Given the description of an element on the screen output the (x, y) to click on. 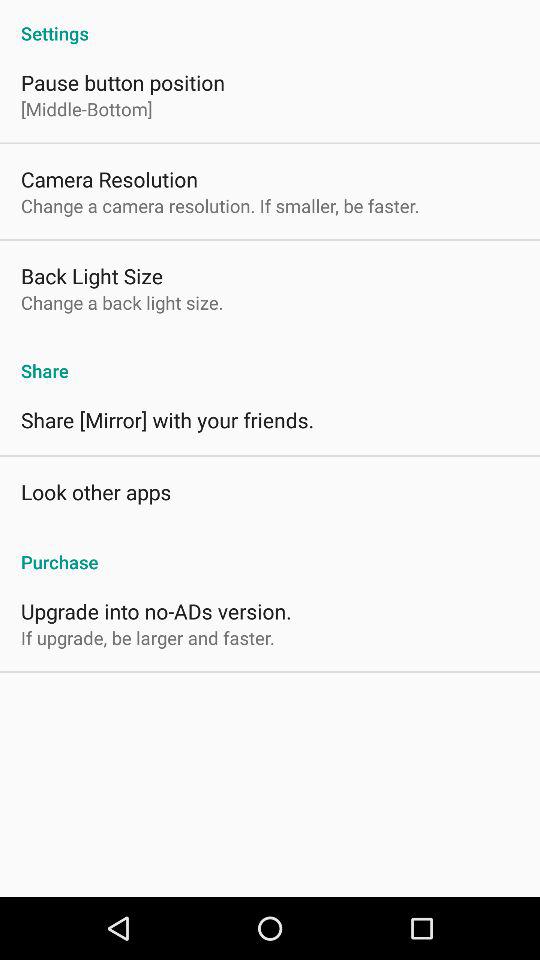
turn off settings item (270, 22)
